Given the description of an element on the screen output the (x, y) to click on. 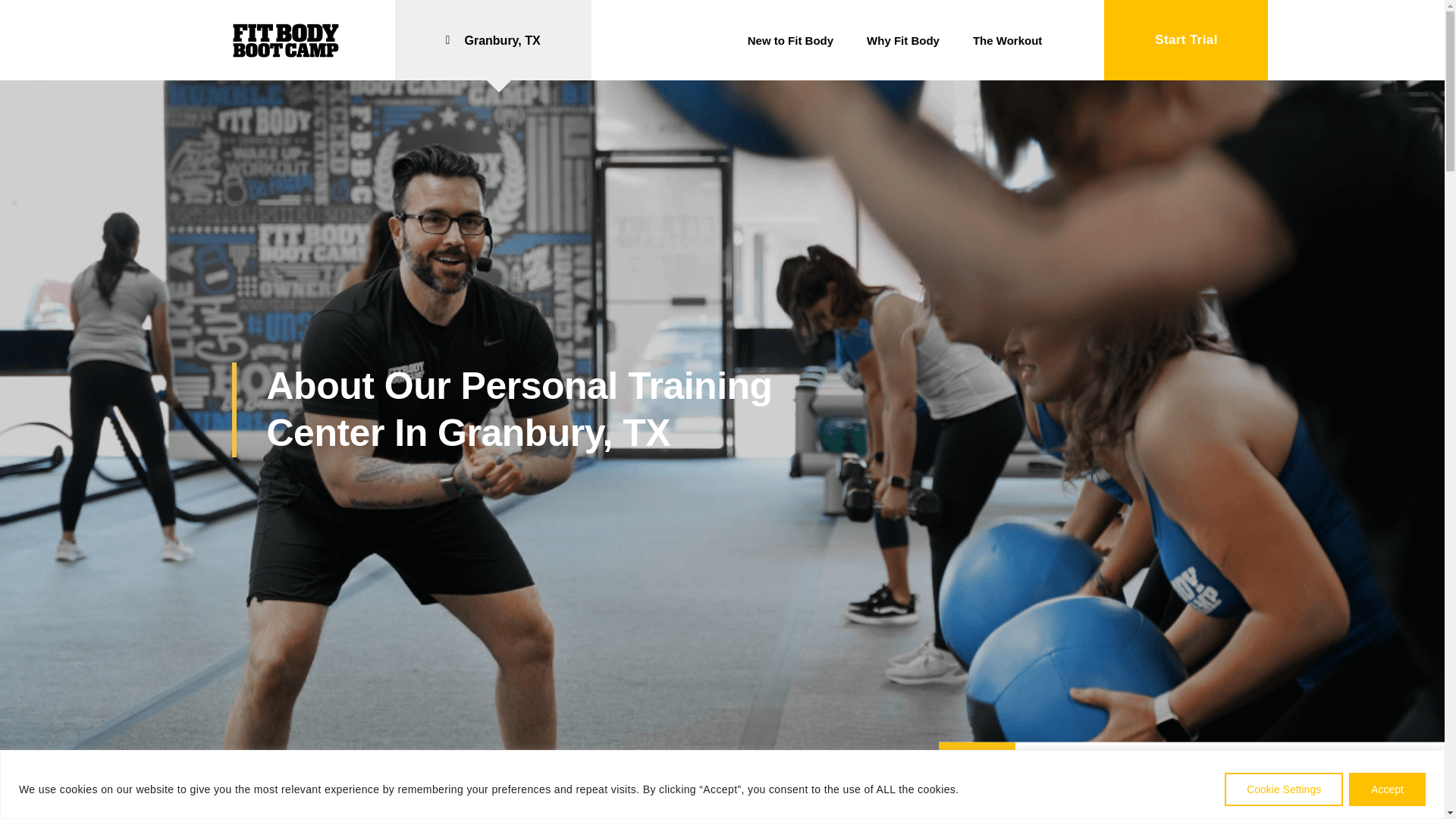
Start Trial (1185, 40)
The Workout (1014, 40)
Cookie Settings (1283, 788)
New to Fit Body (797, 40)
Why Fit Body (910, 40)
Accept (1387, 788)
